Given the description of an element on the screen output the (x, y) to click on. 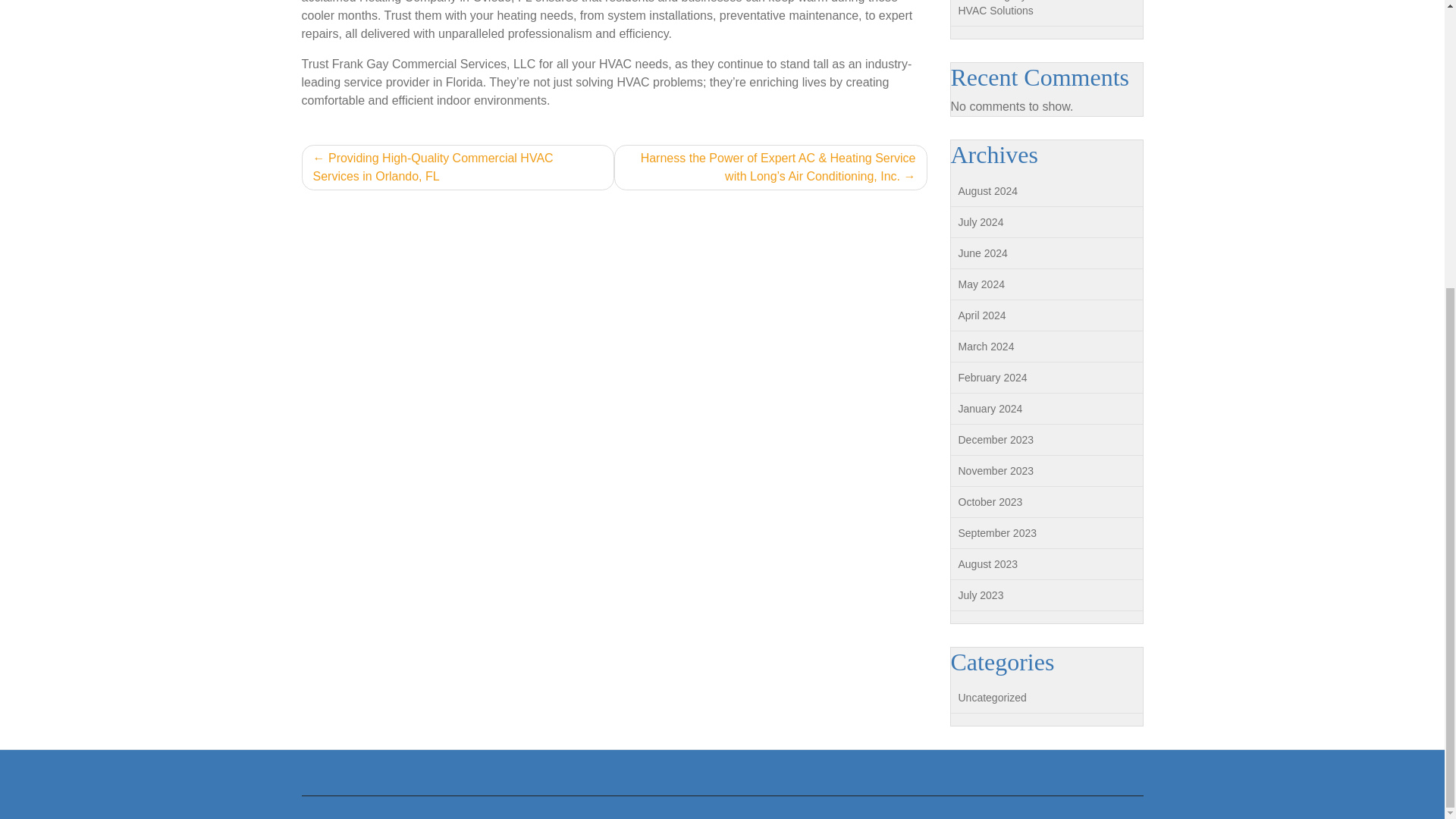
September 2023 (997, 532)
April 2024 (982, 315)
June 2024 (982, 253)
July 2023 (981, 594)
July 2024 (981, 222)
January 2024 (990, 408)
May 2024 (981, 284)
February 2024 (992, 377)
August 2023 (987, 563)
November 2023 (995, 470)
December 2023 (995, 439)
March 2024 (986, 346)
October 2023 (990, 501)
